Given the description of an element on the screen output the (x, y) to click on. 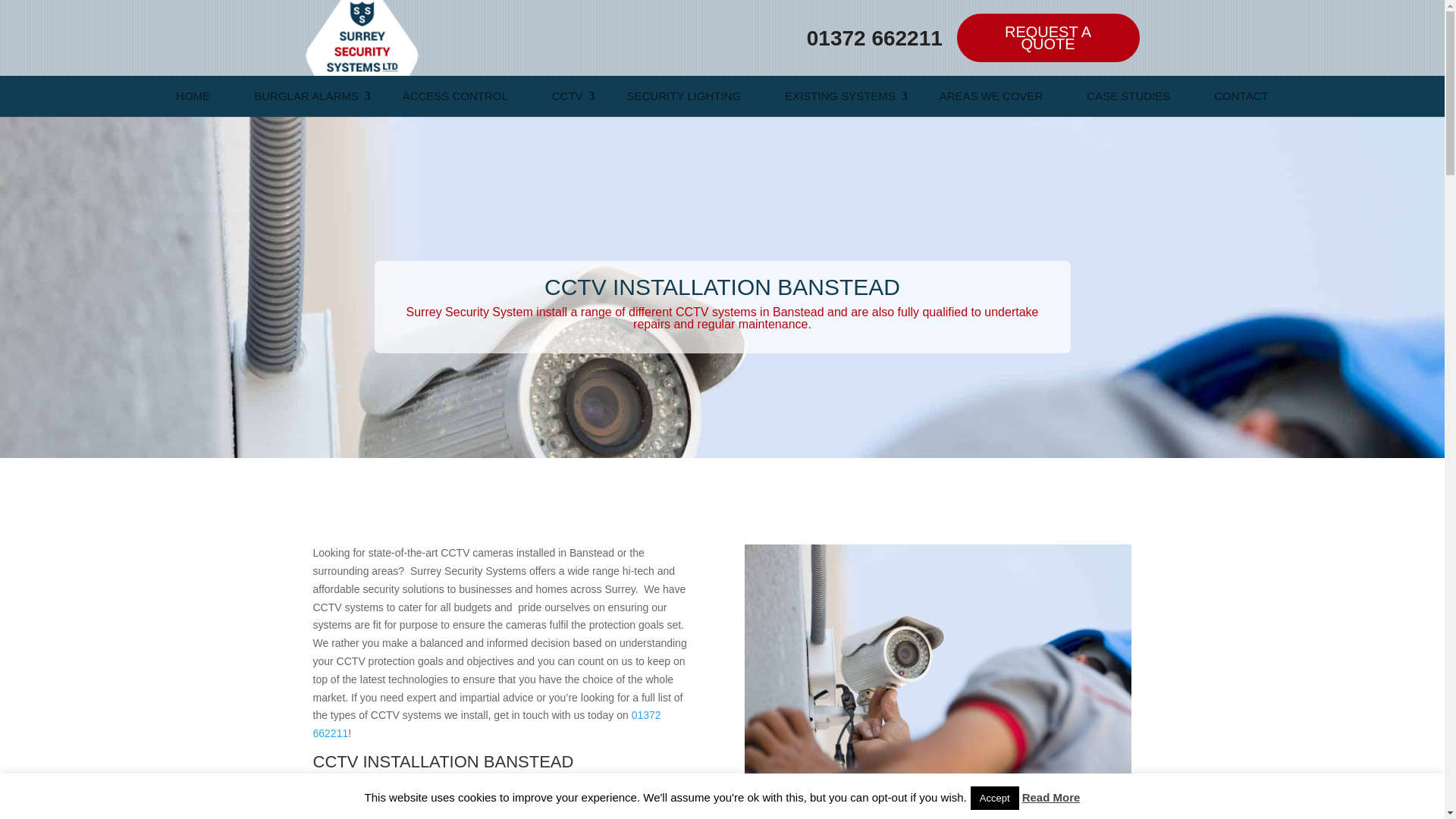
HOME (192, 96)
CCTV (567, 96)
REQUEST A QUOTE (1048, 37)
CASE STUDIES (1128, 96)
AREAS WE COVER (991, 96)
01372 662211 (874, 37)
Professional,Cctv,Technician,Working. (937, 673)
ACCESS CONTROL (454, 96)
SECURITY LIGHTING (683, 96)
CONTACT (1240, 96)
